Given the description of an element on the screen output the (x, y) to click on. 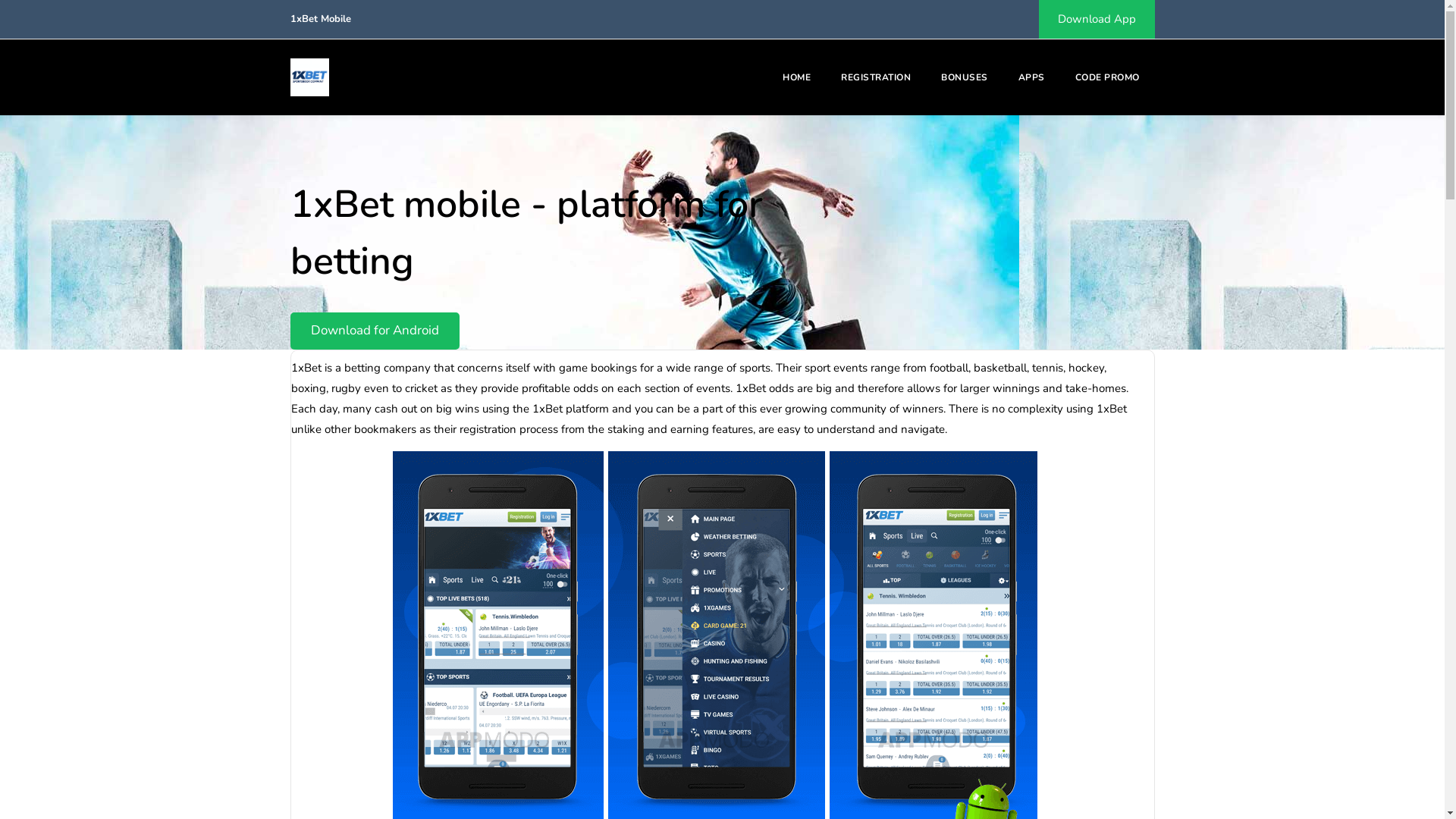
CODE PROMO Element type: text (1106, 77)
Download for Android Element type: text (373, 330)
REGISTRATION Element type: text (875, 77)
Download App Element type: text (1096, 19)
APPS Element type: text (1031, 77)
HOME Element type: text (796, 77)
BONUSES Element type: text (964, 77)
